Given the description of an element on the screen output the (x, y) to click on. 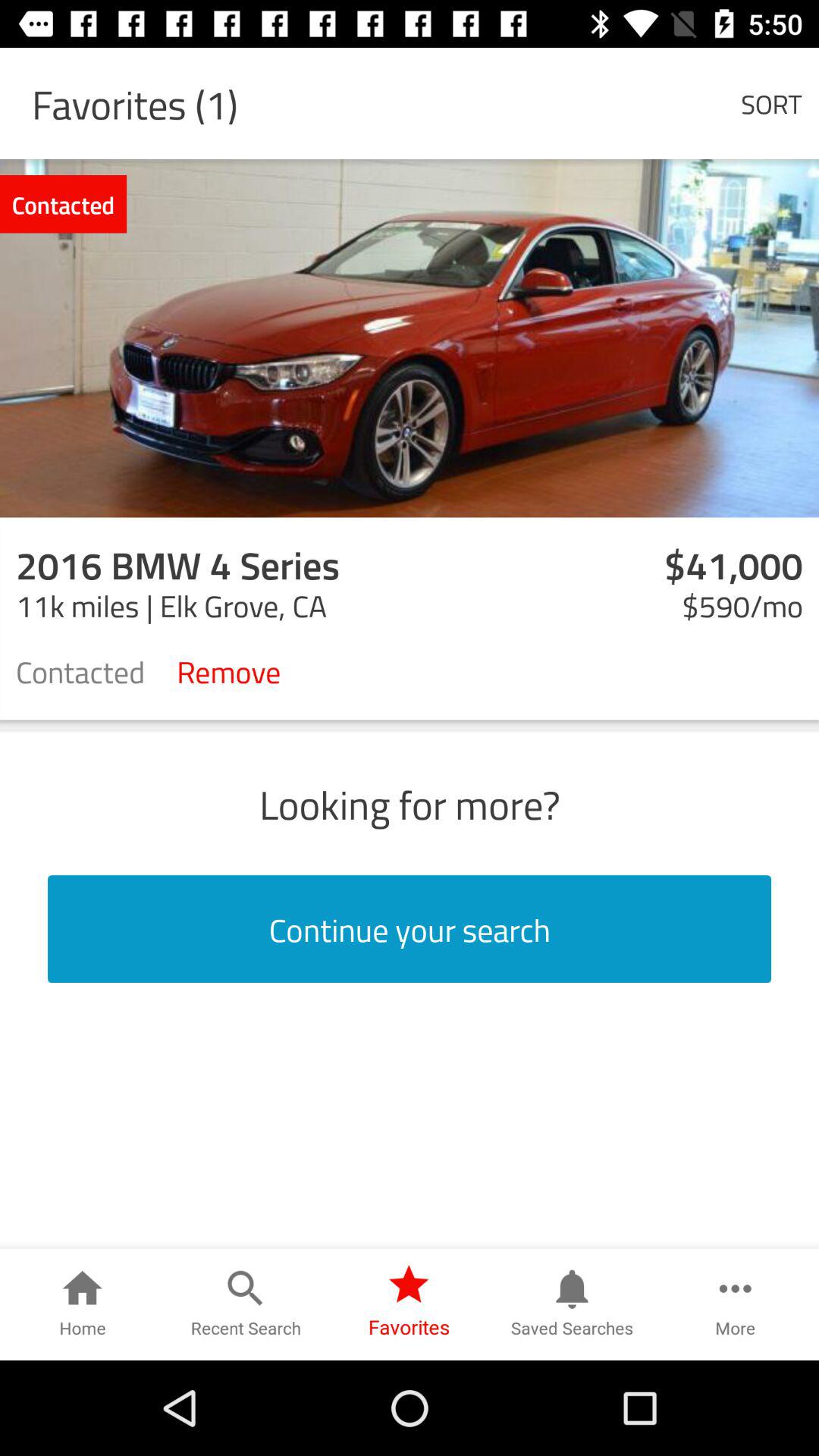
scroll until the continue your search item (409, 928)
